Given the description of an element on the screen output the (x, y) to click on. 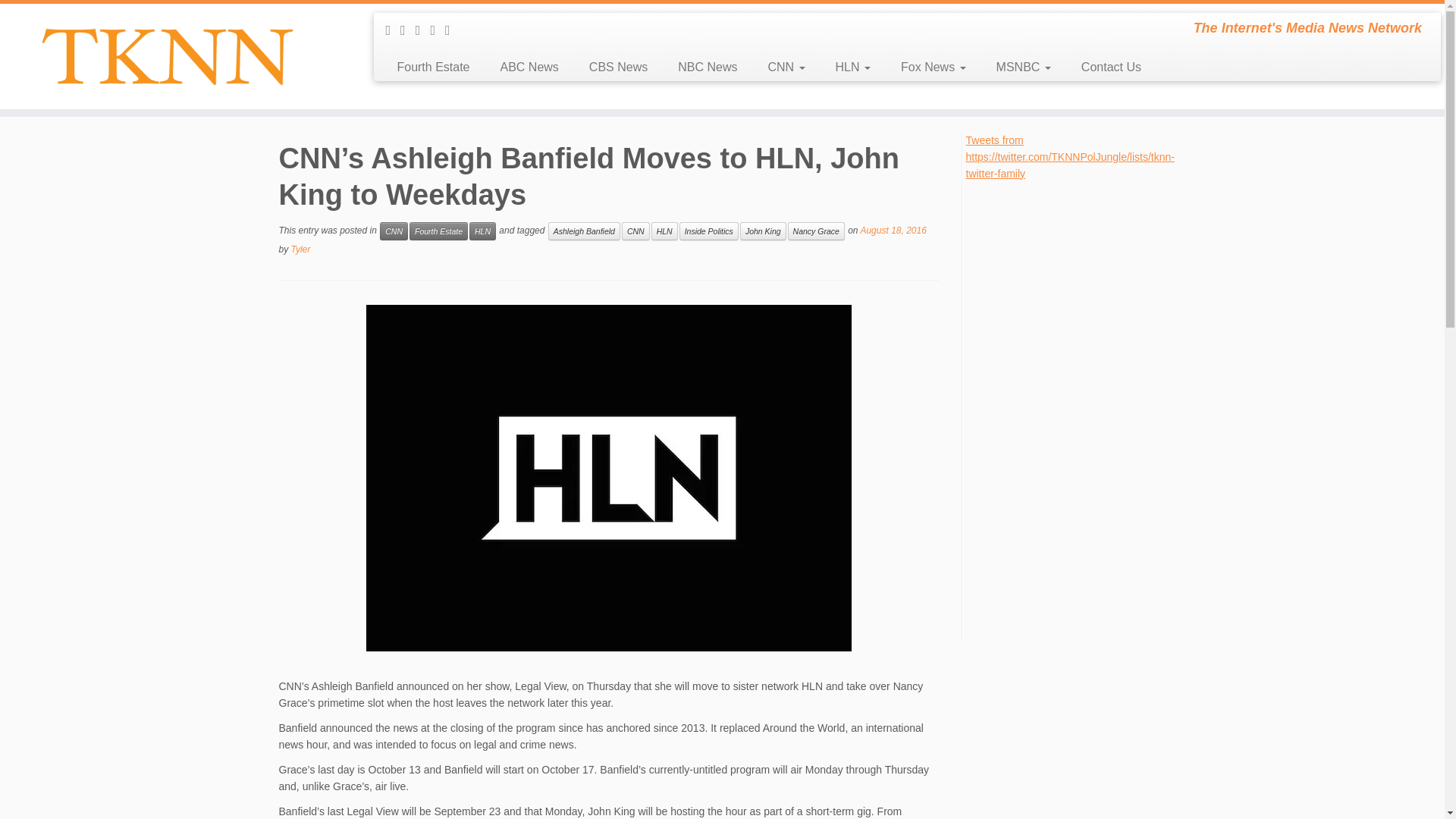
HLN (664, 230)
Ashleigh Banfield (584, 230)
View all posts in Nancy Grace (815, 230)
John King (762, 230)
Nancy Grace (815, 230)
HLN (482, 230)
View all posts in HLN (482, 230)
MSNBC (1023, 67)
View all posts in Ashleigh Banfield (584, 230)
ABC News (528, 67)
Inside Politics (708, 230)
View all posts in CNN (393, 230)
E-mail (407, 29)
View all posts in Fourth Estate (438, 230)
Subscribe to my rss feed (392, 29)
